Given the description of an element on the screen output the (x, y) to click on. 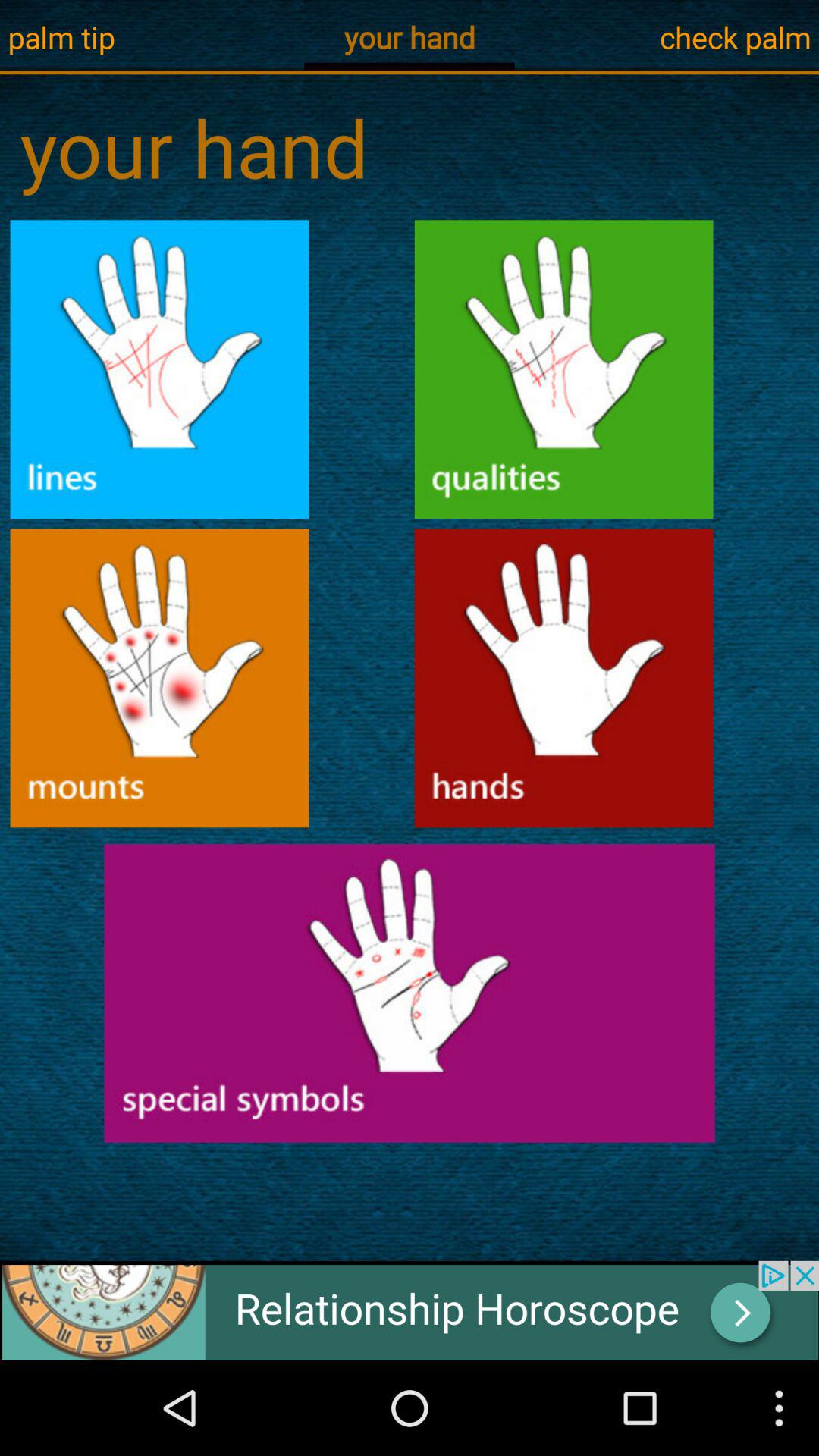
hand lines (159, 369)
